Given the description of an element on the screen output the (x, y) to click on. 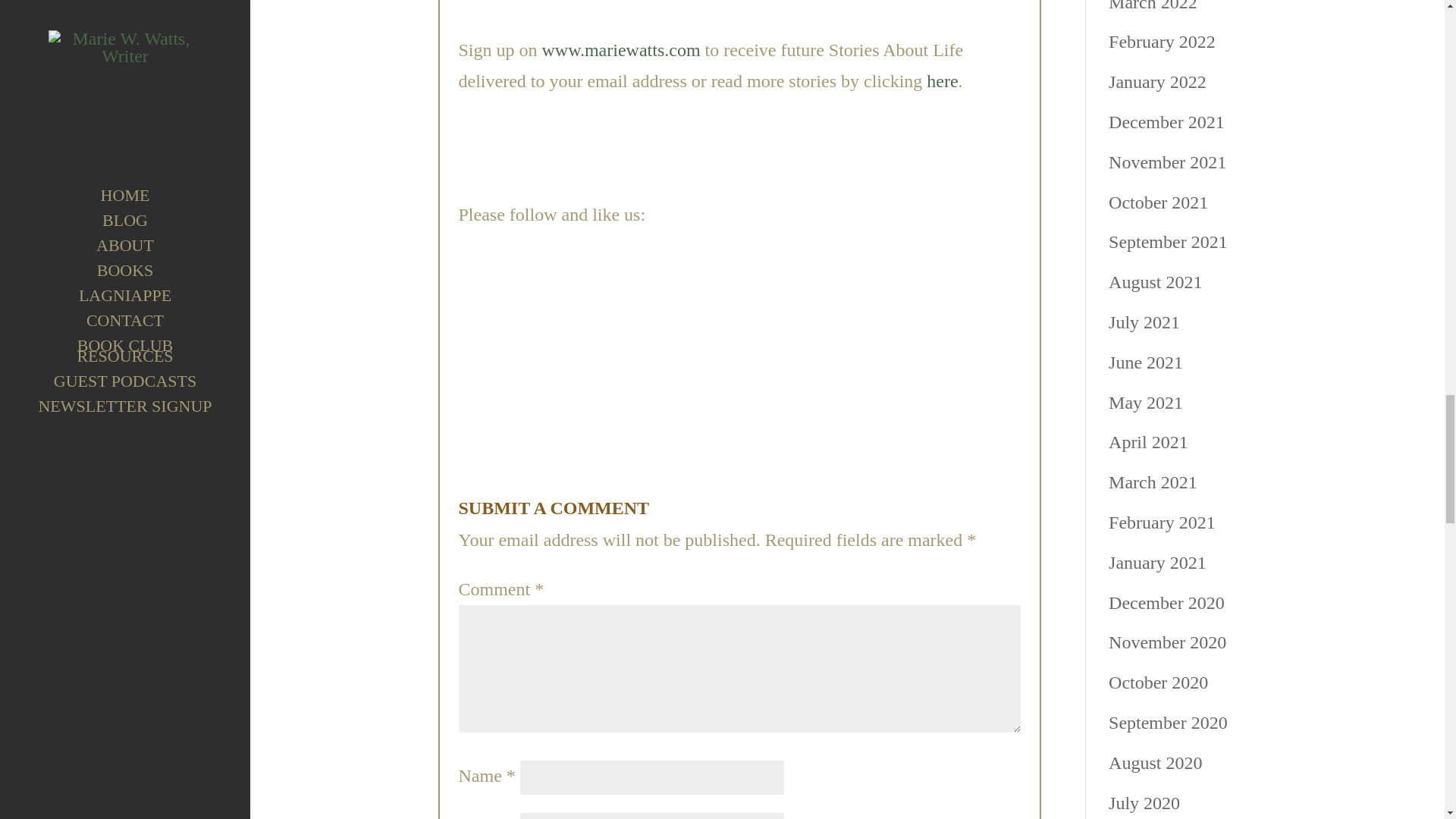
Facebook Share (571, 327)
here (942, 80)
Tweet (798, 327)
www.mariewatts.com (620, 49)
Pin Share (571, 441)
